Given the description of an element on the screen output the (x, y) to click on. 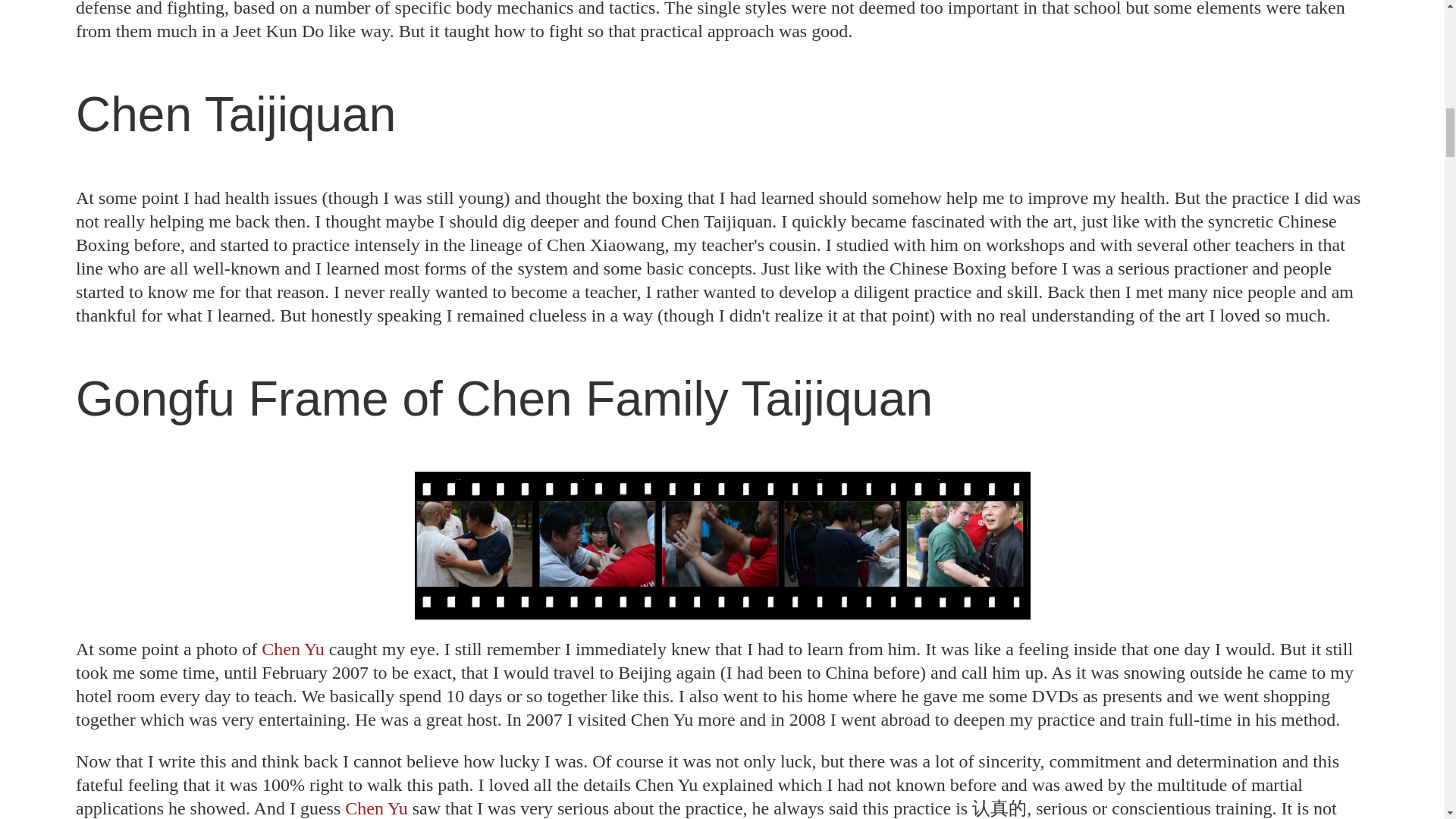
Chen Yu (295, 649)
Chen Yu, Chen Zhaokui, Chen Fake and Chen Changxing (295, 649)
Chen Yu, Chen Zhaokui, Chen Fake and Chen Changxing (376, 808)
Chen Yu (376, 808)
